Given the description of an element on the screen output the (x, y) to click on. 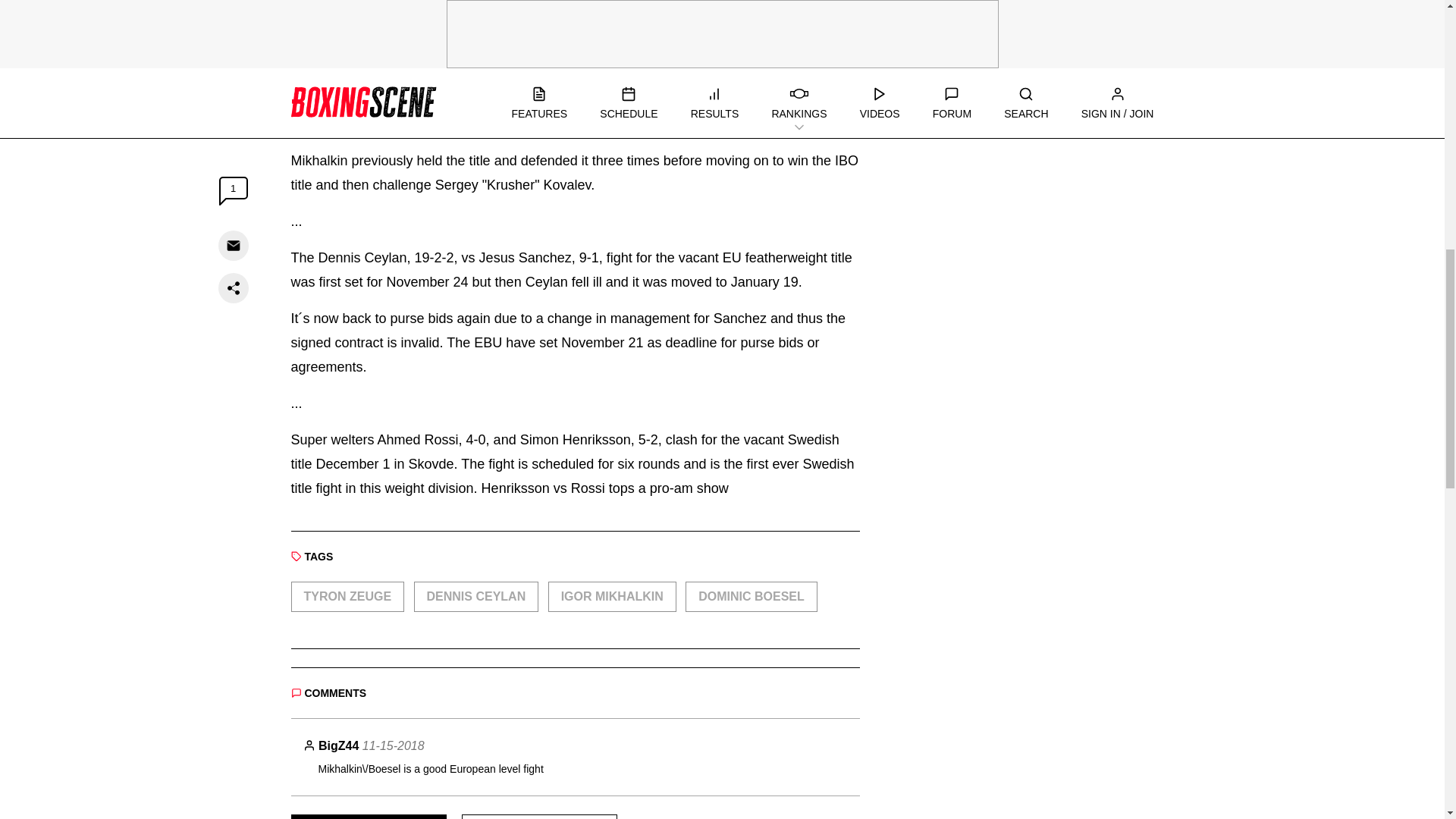
ADD COMMENT (368, 816)
DOMINIC BOESEL (750, 596)
TYRON ZEUGE (347, 596)
DENNIS CEYLAN (475, 596)
IGOR MIKHALKIN (612, 596)
BigZ44 (338, 745)
